Given the description of an element on the screen output the (x, y) to click on. 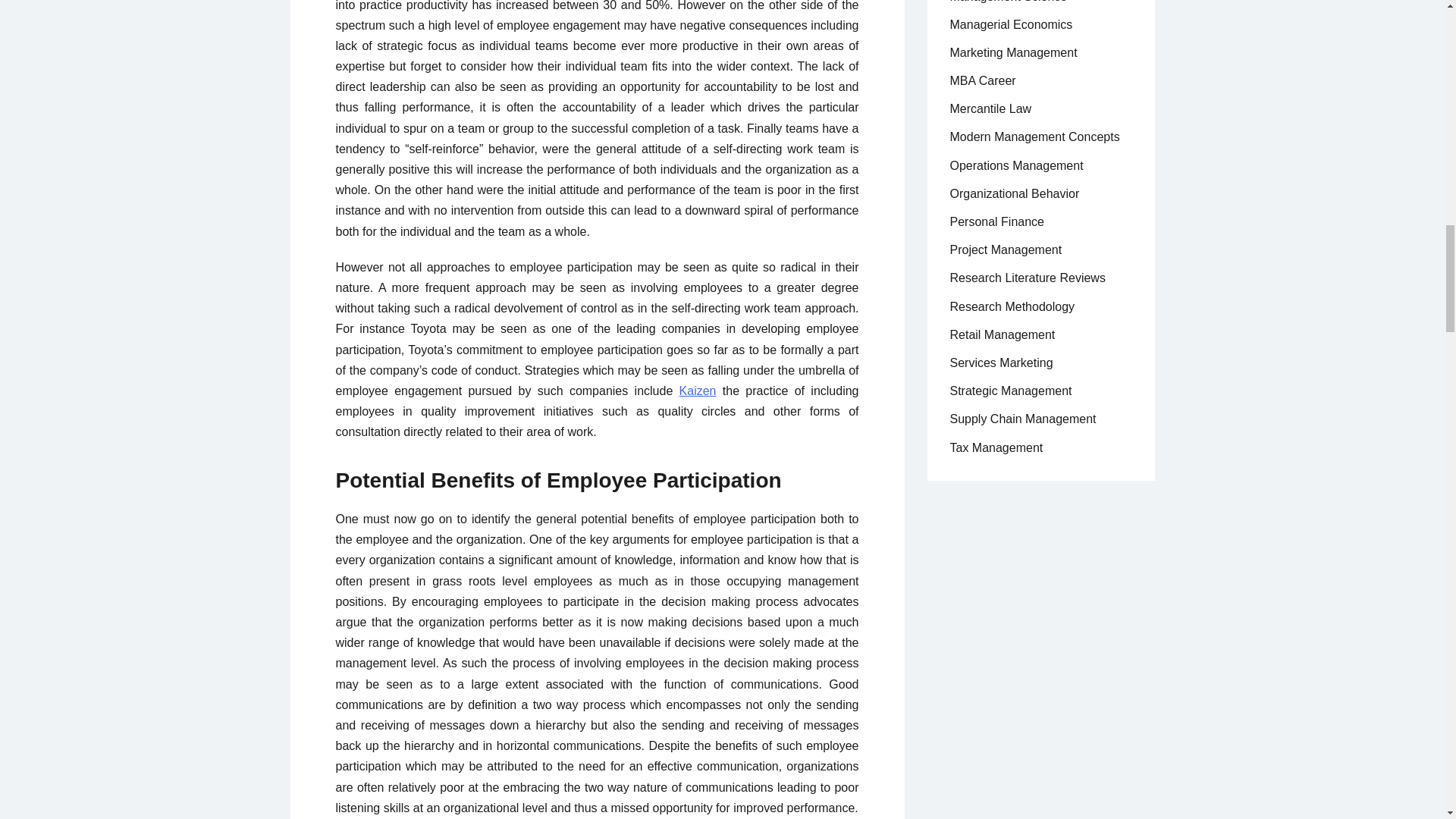
Kaizen (697, 390)
